Given the description of an element on the screen output the (x, y) to click on. 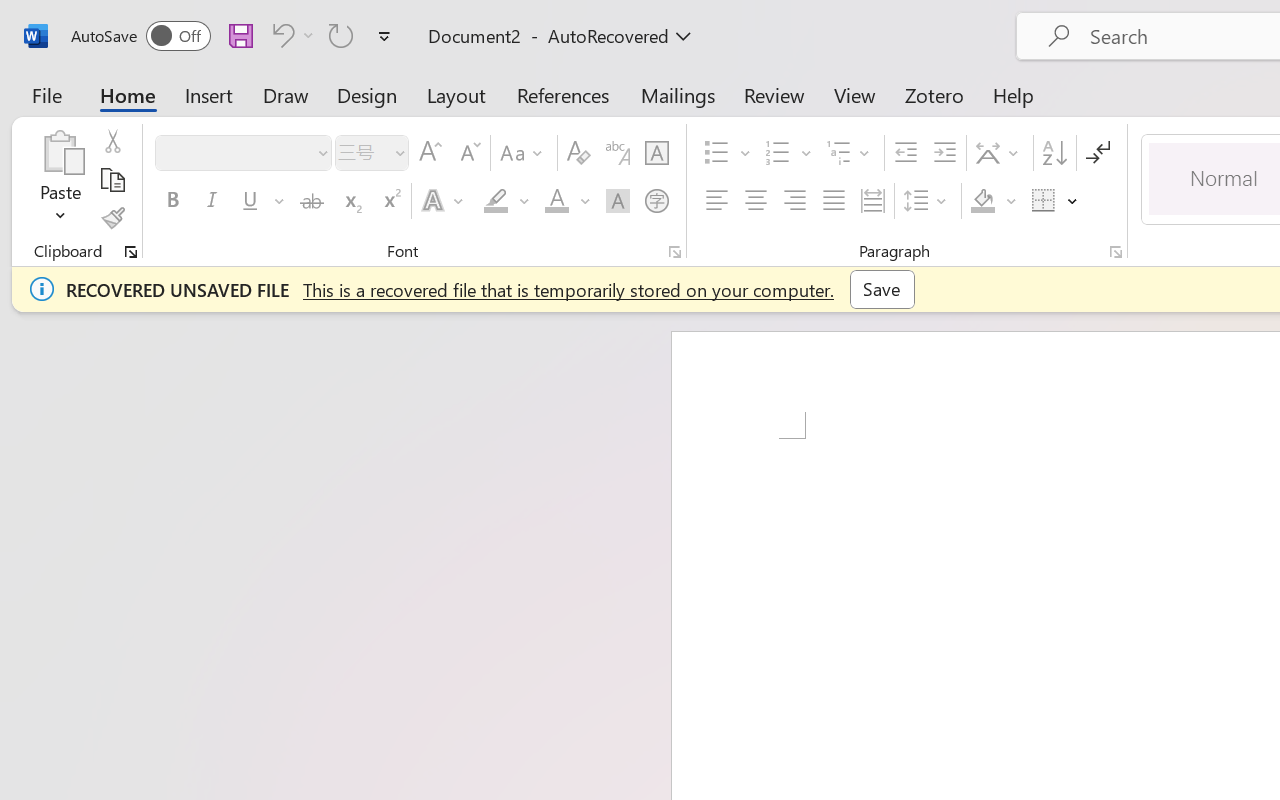
Clear Formatting (578, 153)
Font Color (567, 201)
Text Highlight Color Yellow (495, 201)
Font Color RGB(255, 0, 0) (556, 201)
Can't Repeat (341, 35)
Paragraph... (1115, 252)
Change Case (524, 153)
